Given the description of an element on the screen output the (x, y) to click on. 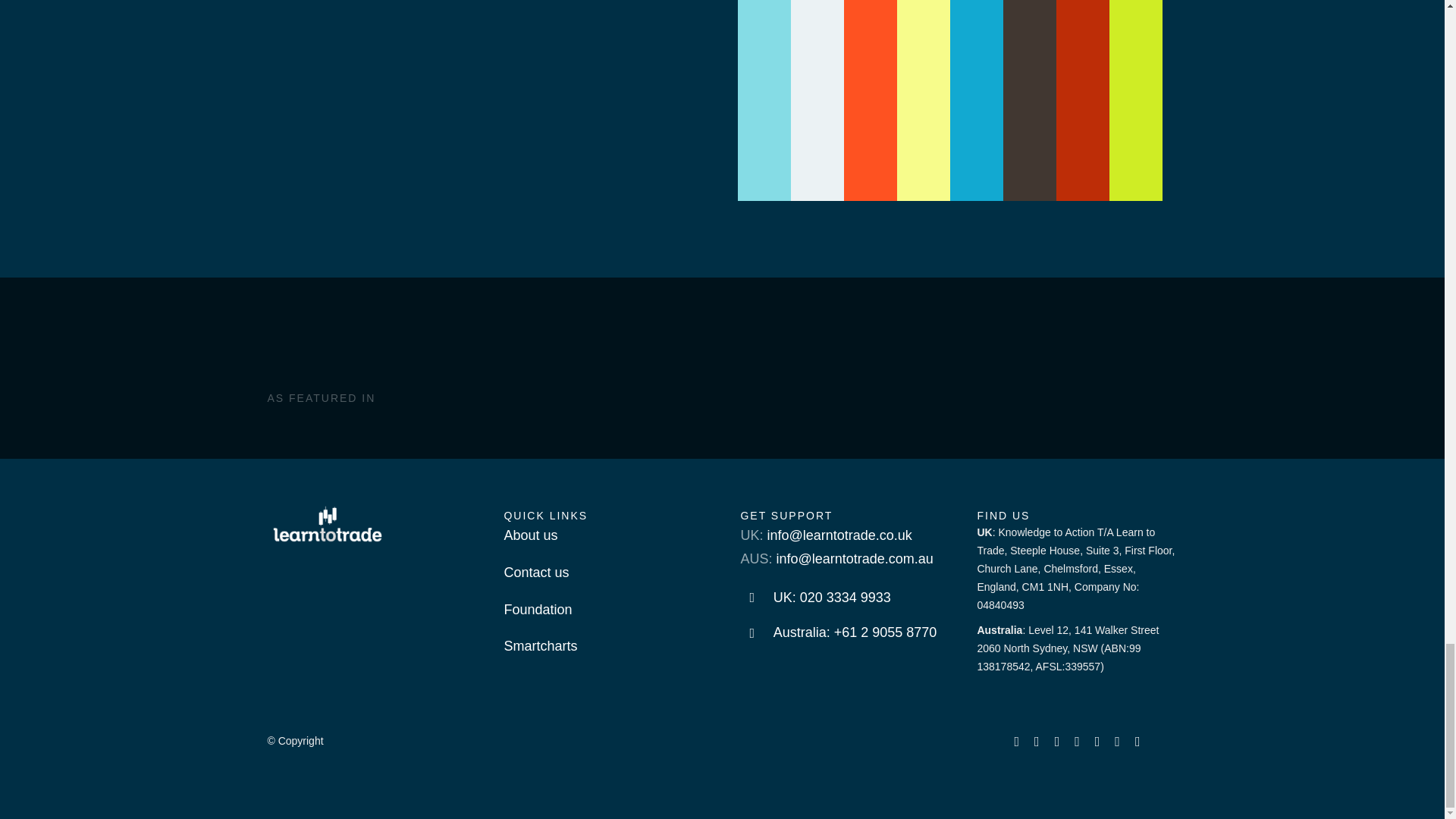
Vimeo video player 1 (948, 100)
As featured in (797, 386)
Logo WhiteOut (327, 523)
